Given the description of an element on the screen output the (x, y) to click on. 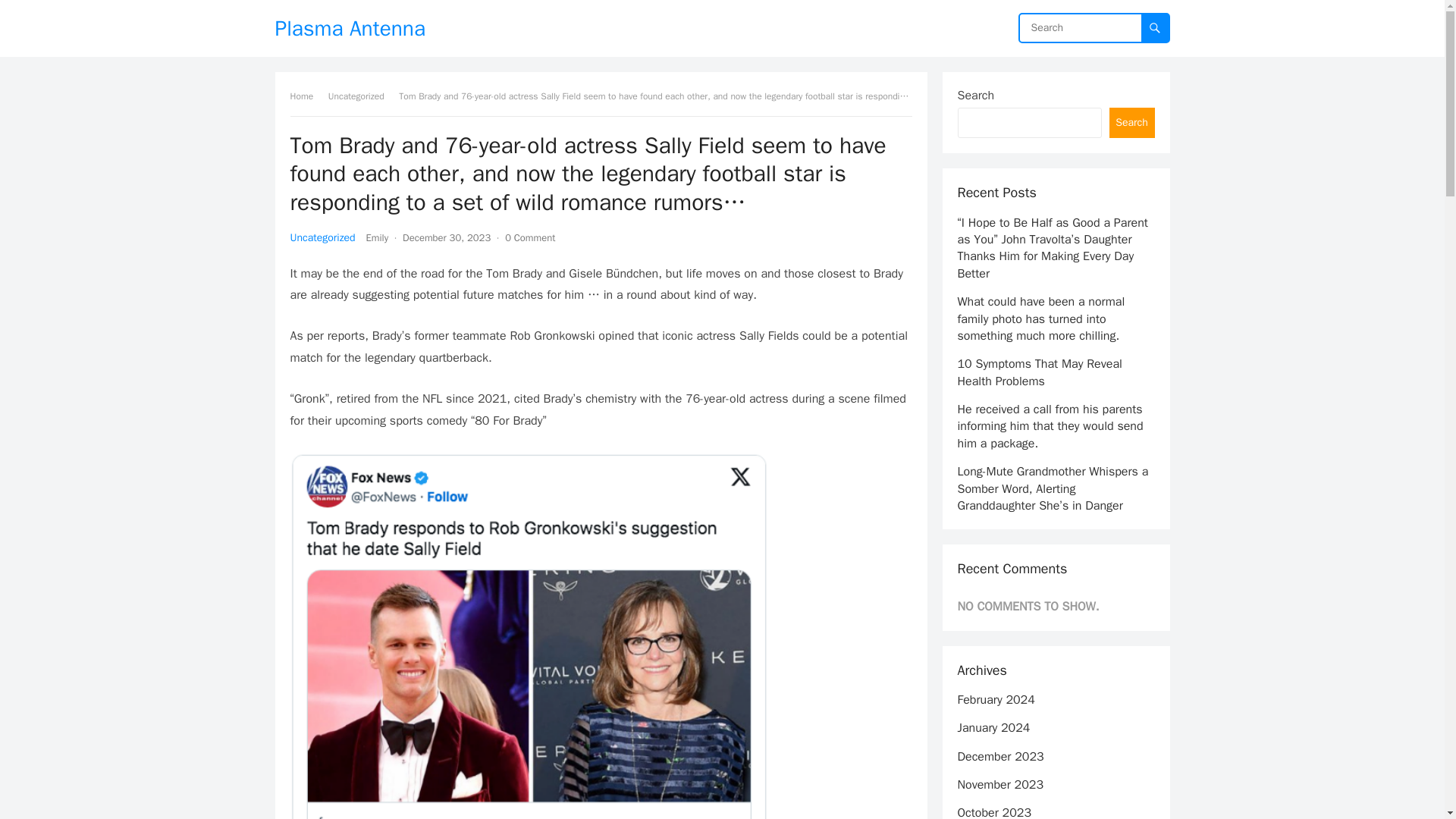
Home (306, 96)
Plasma Antenna (350, 28)
Uncategorized (361, 96)
Emily (377, 237)
0 Comment (529, 237)
Posts by Emily (377, 237)
Uncategorized (322, 237)
